Given the description of an element on the screen output the (x, y) to click on. 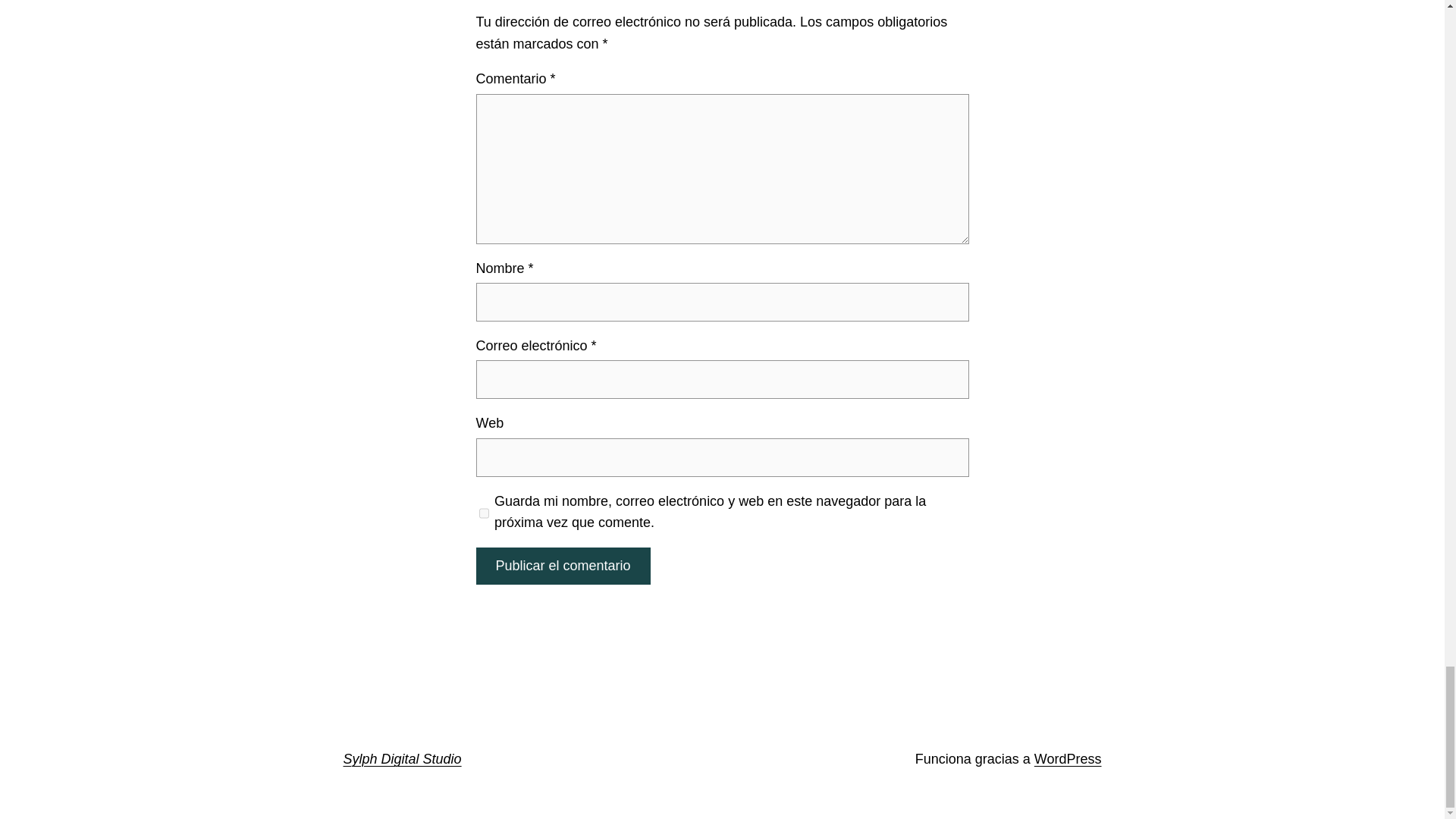
Publicar el comentario (563, 565)
